Given the description of an element on the screen output the (x, y) to click on. 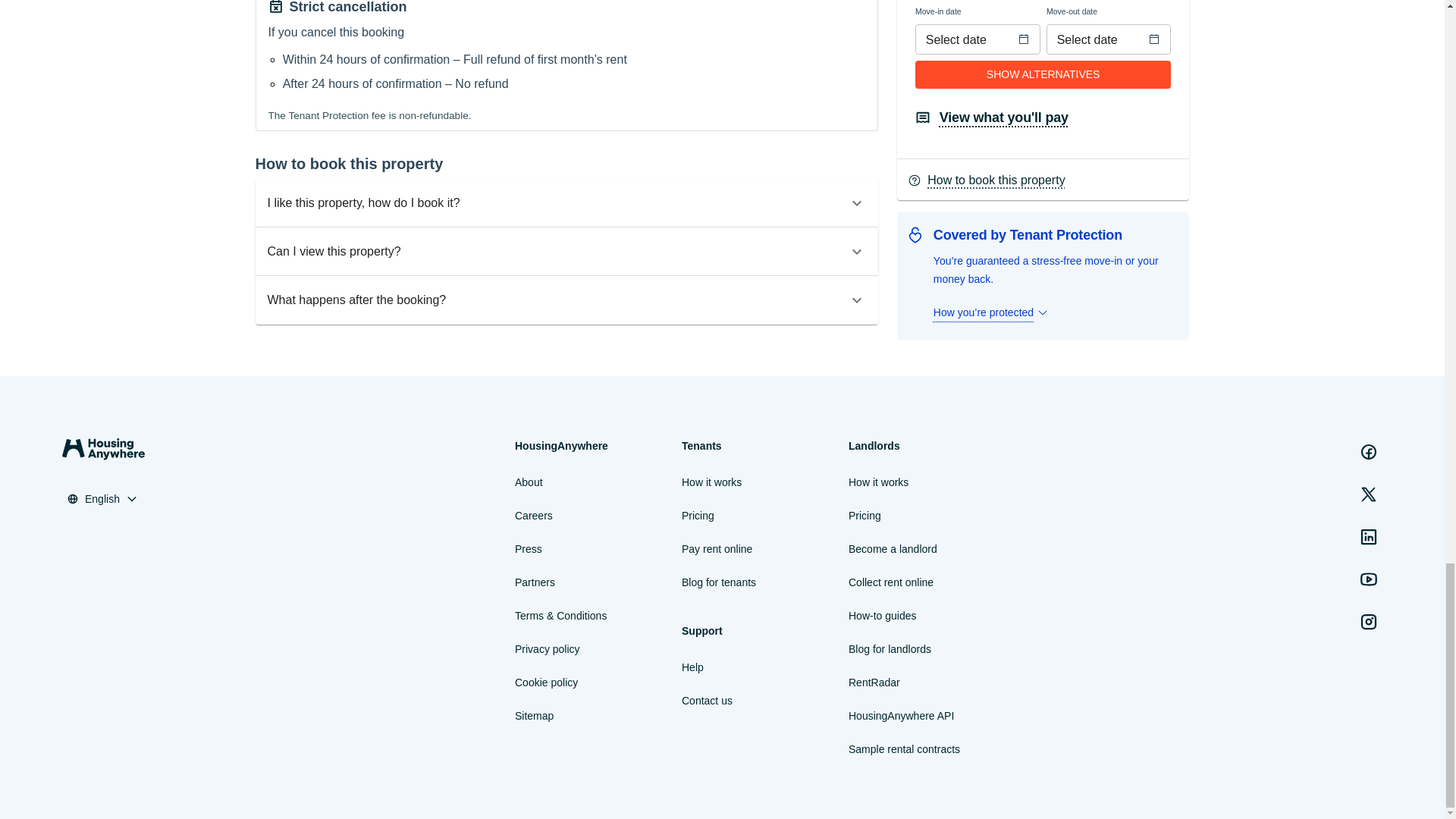
About (529, 482)
Careers (534, 515)
How it works (711, 482)
linkedin (1369, 536)
Partners (534, 582)
twitter (1369, 494)
Press (528, 548)
Privacy policy (547, 648)
facebook (1369, 451)
Sitemap (534, 715)
youtube (1369, 579)
Cookie policy (546, 682)
instagram (1369, 621)
